Given the description of an element on the screen output the (x, y) to click on. 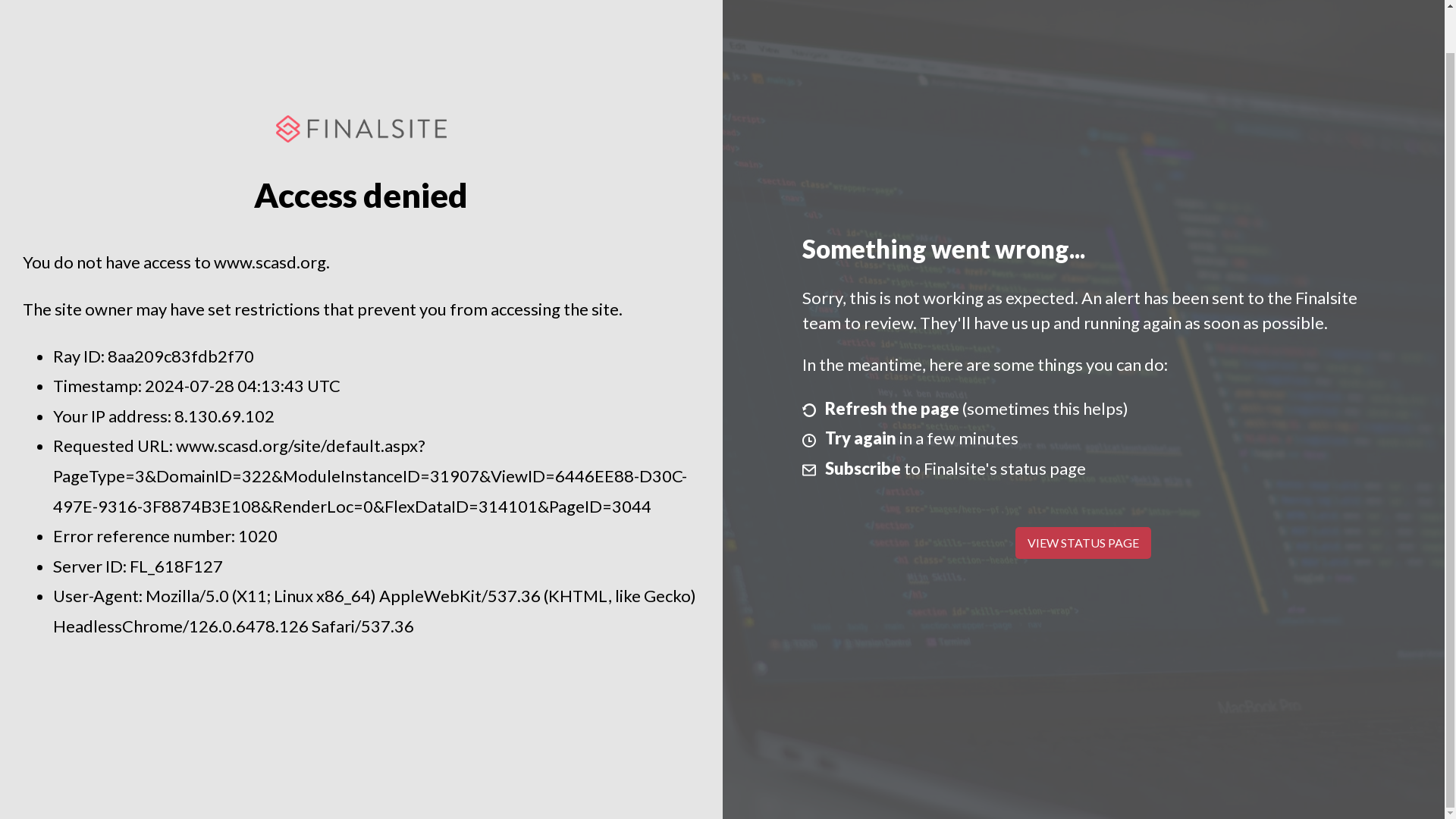
VIEW STATUS PAGE (1082, 542)
